Given the description of an element on the screen output the (x, y) to click on. 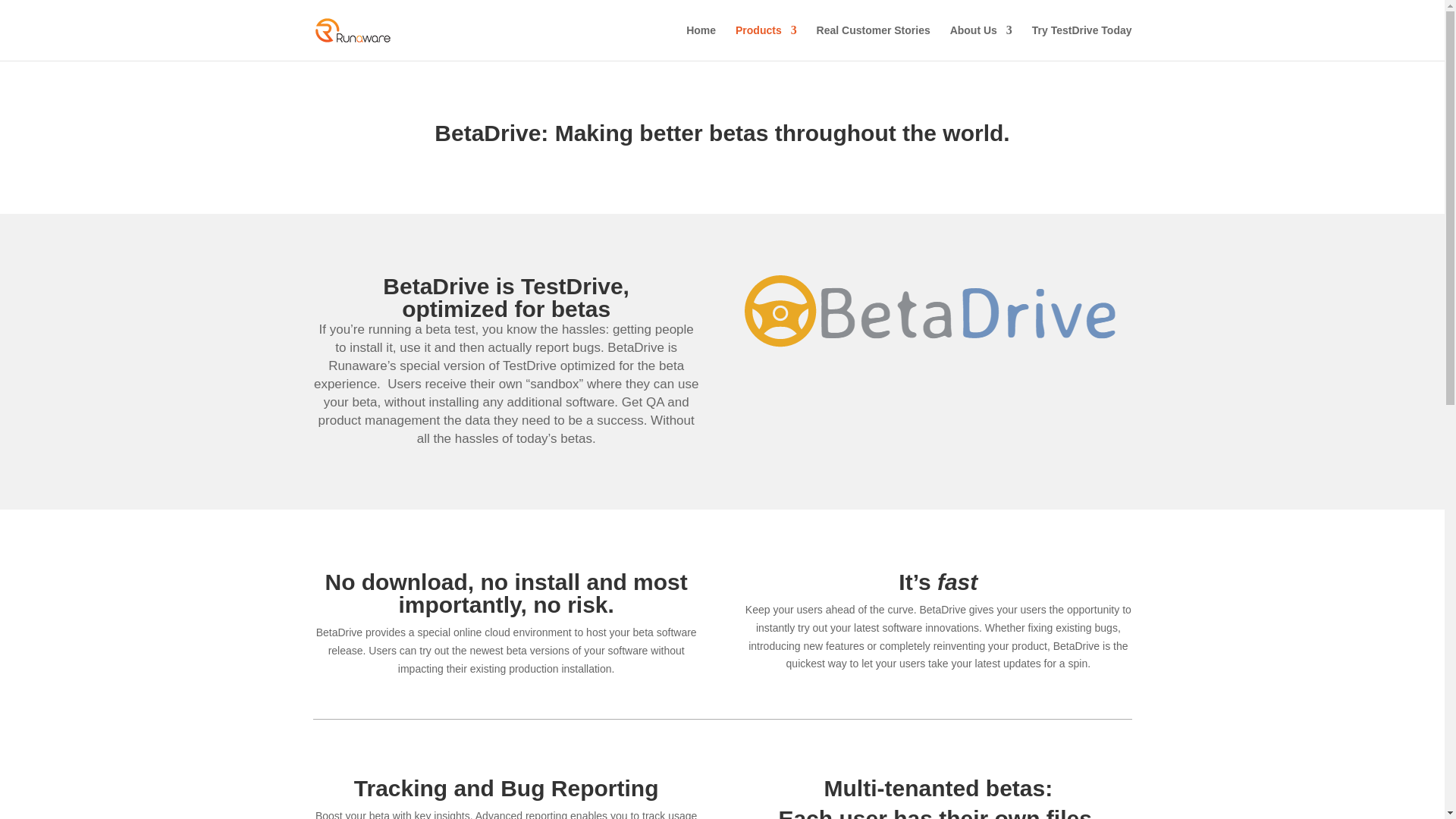
About Us (980, 42)
Try TestDrive Today (1082, 42)
Real Customer Stories (873, 42)
Products (765, 42)
